Given the description of an element on the screen output the (x, y) to click on. 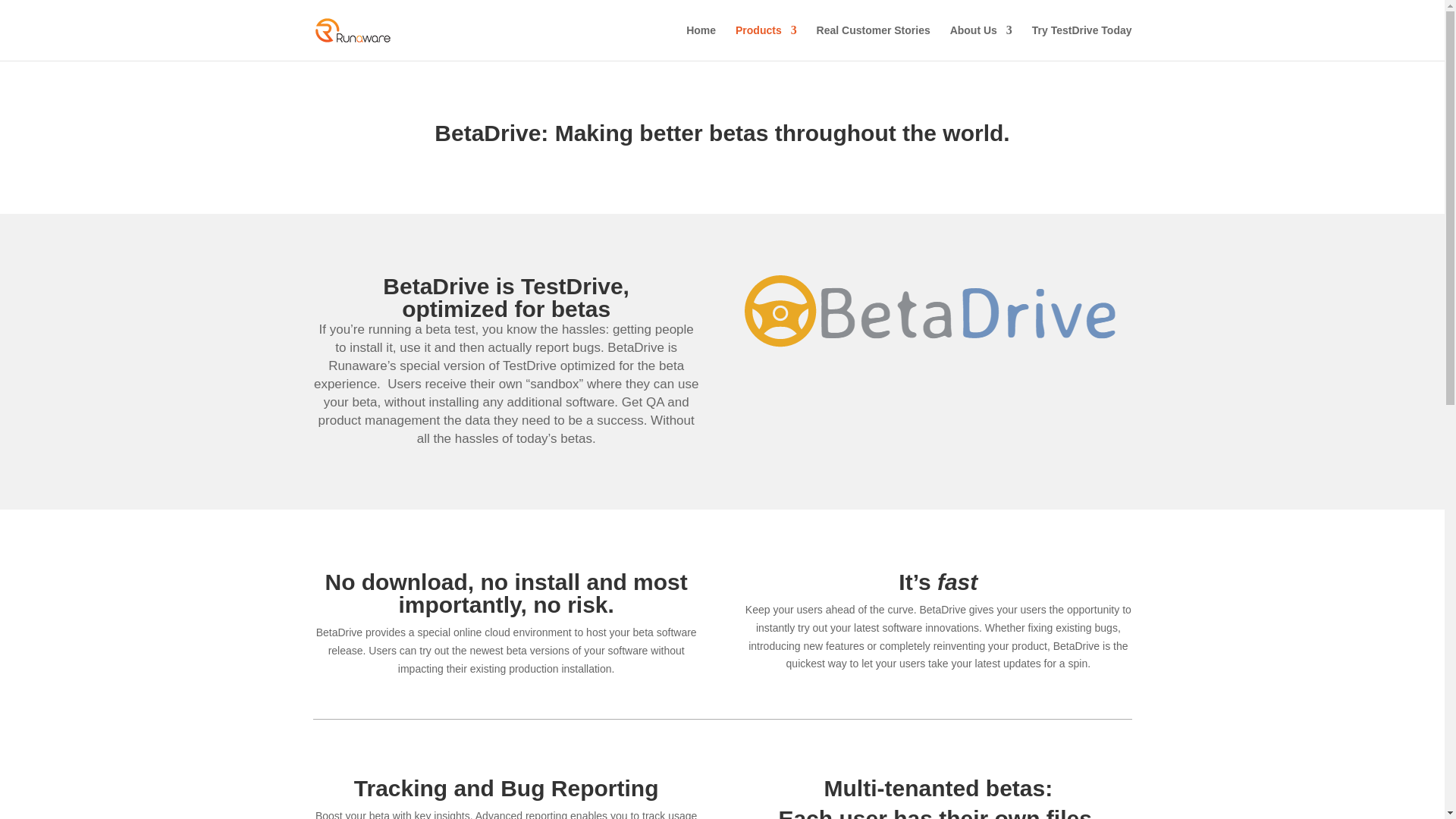
About Us (980, 42)
Try TestDrive Today (1082, 42)
Real Customer Stories (873, 42)
Products (765, 42)
